Given the description of an element on the screen output the (x, y) to click on. 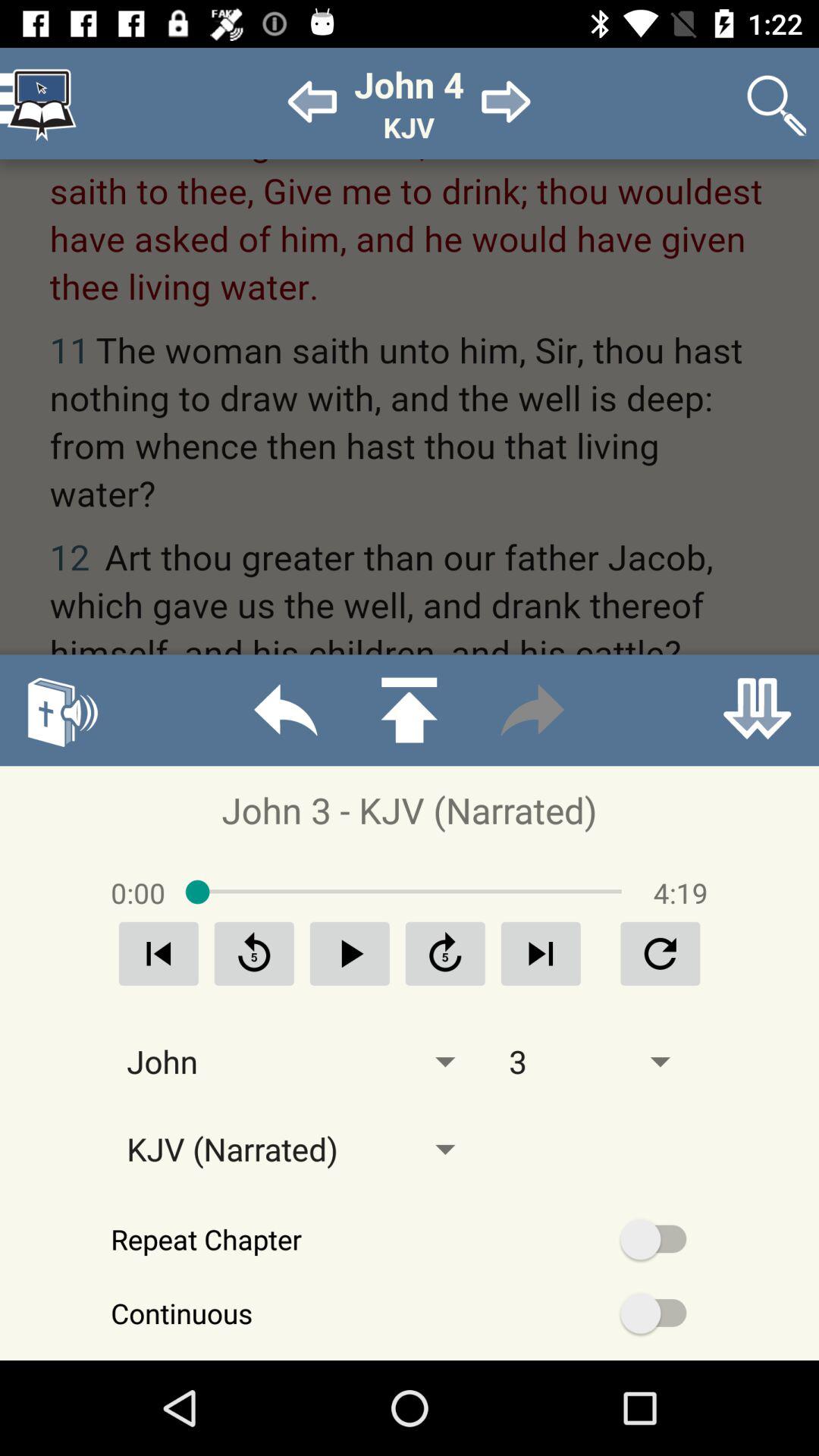
reload option (254, 953)
